Given the description of an element on the screen output the (x, y) to click on. 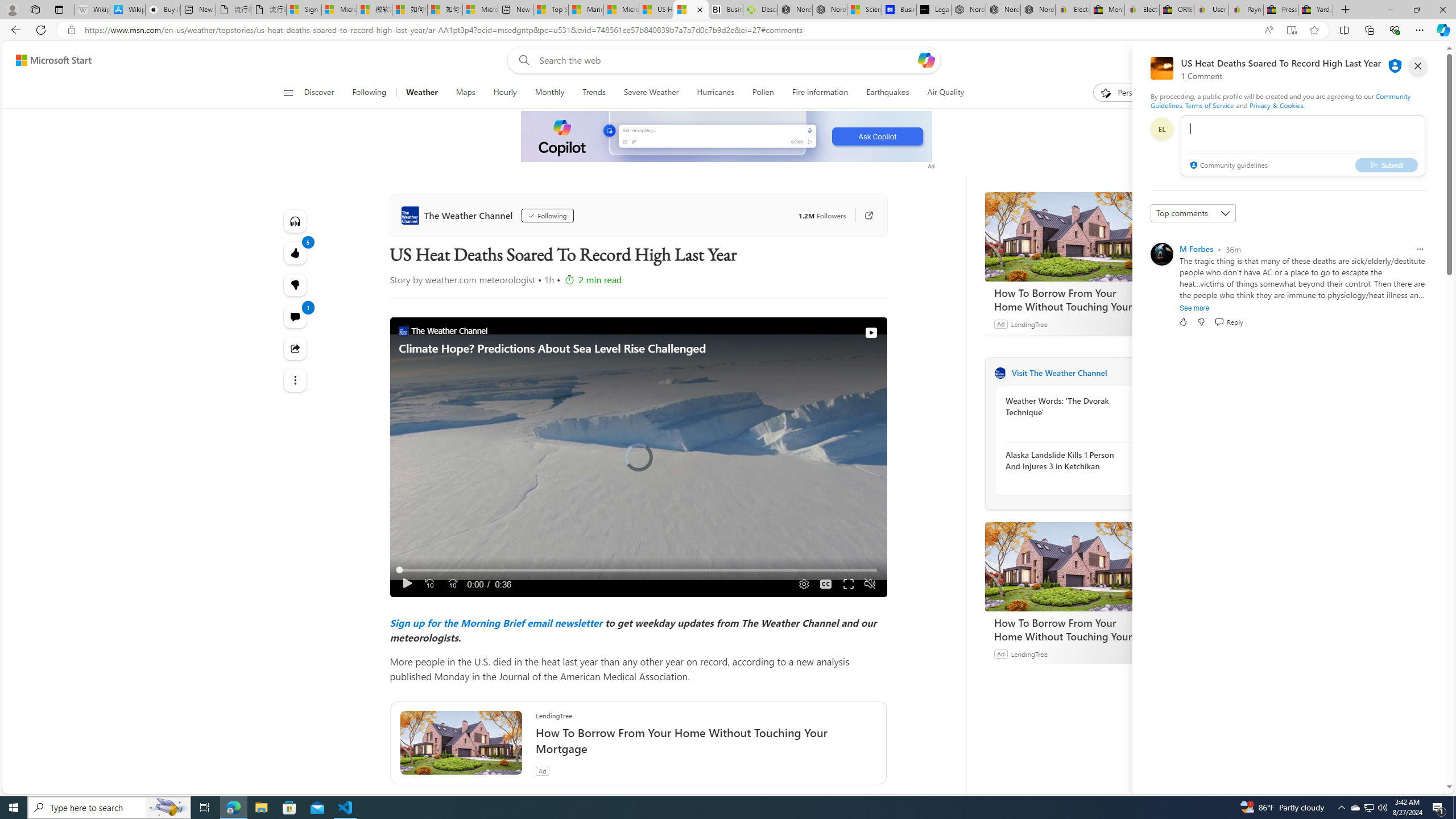
Weather Words: 'The Dvorak Technique' (1066, 406)
Collections (1369, 29)
Class: button-glyph (287, 92)
Refresh (40, 29)
Marine life - MSN (585, 9)
View site information (70, 29)
